Given the description of an element on the screen output the (x, y) to click on. 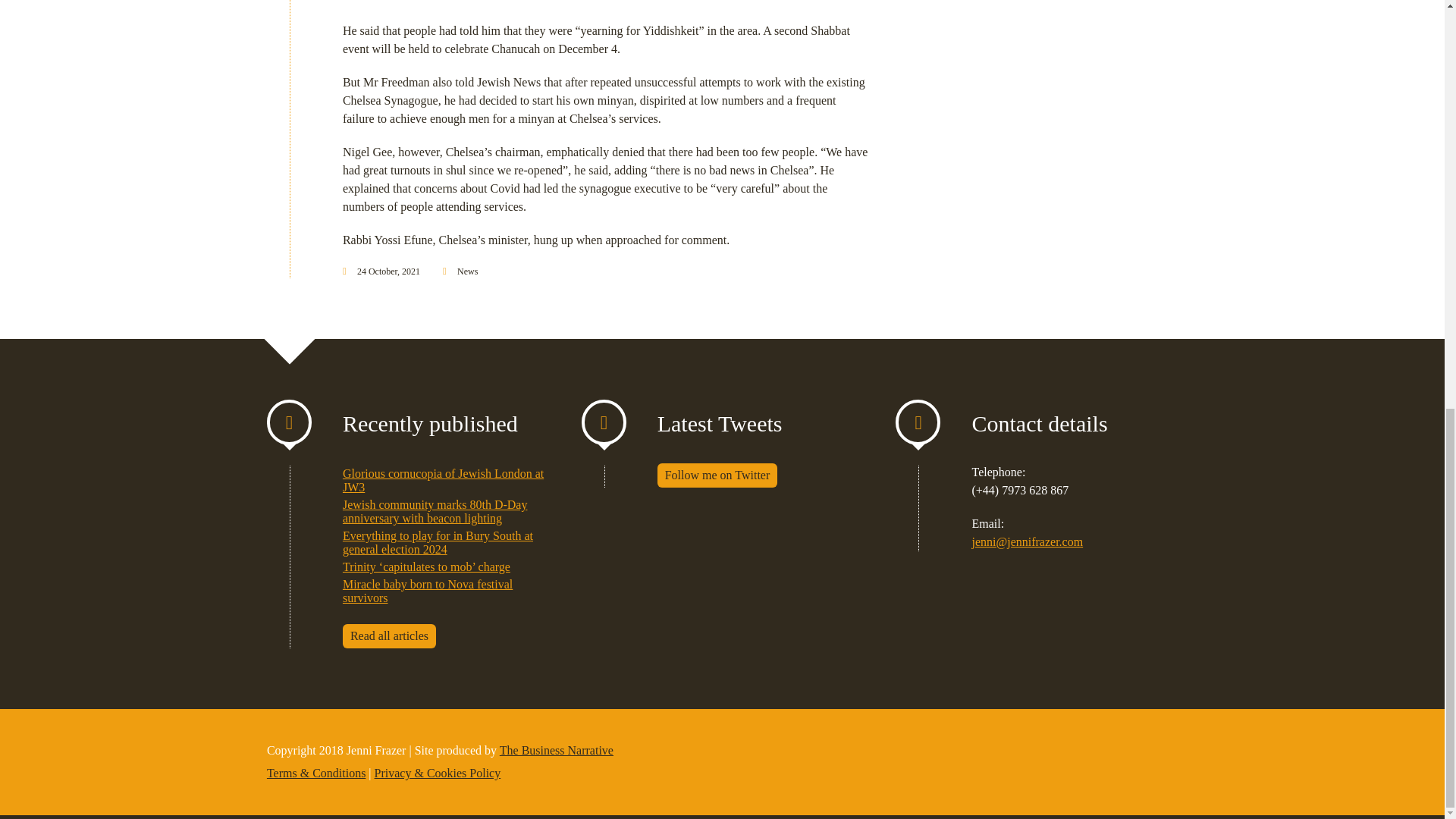
Miracle baby born to Nova festival survivors (427, 591)
The Business Narrative (555, 749)
News (467, 271)
Read all articles (388, 636)
Glorious cornucopia of Jewish London at JW3 (442, 479)
Follow me on Twitter (717, 475)
